Given the description of an element on the screen output the (x, y) to click on. 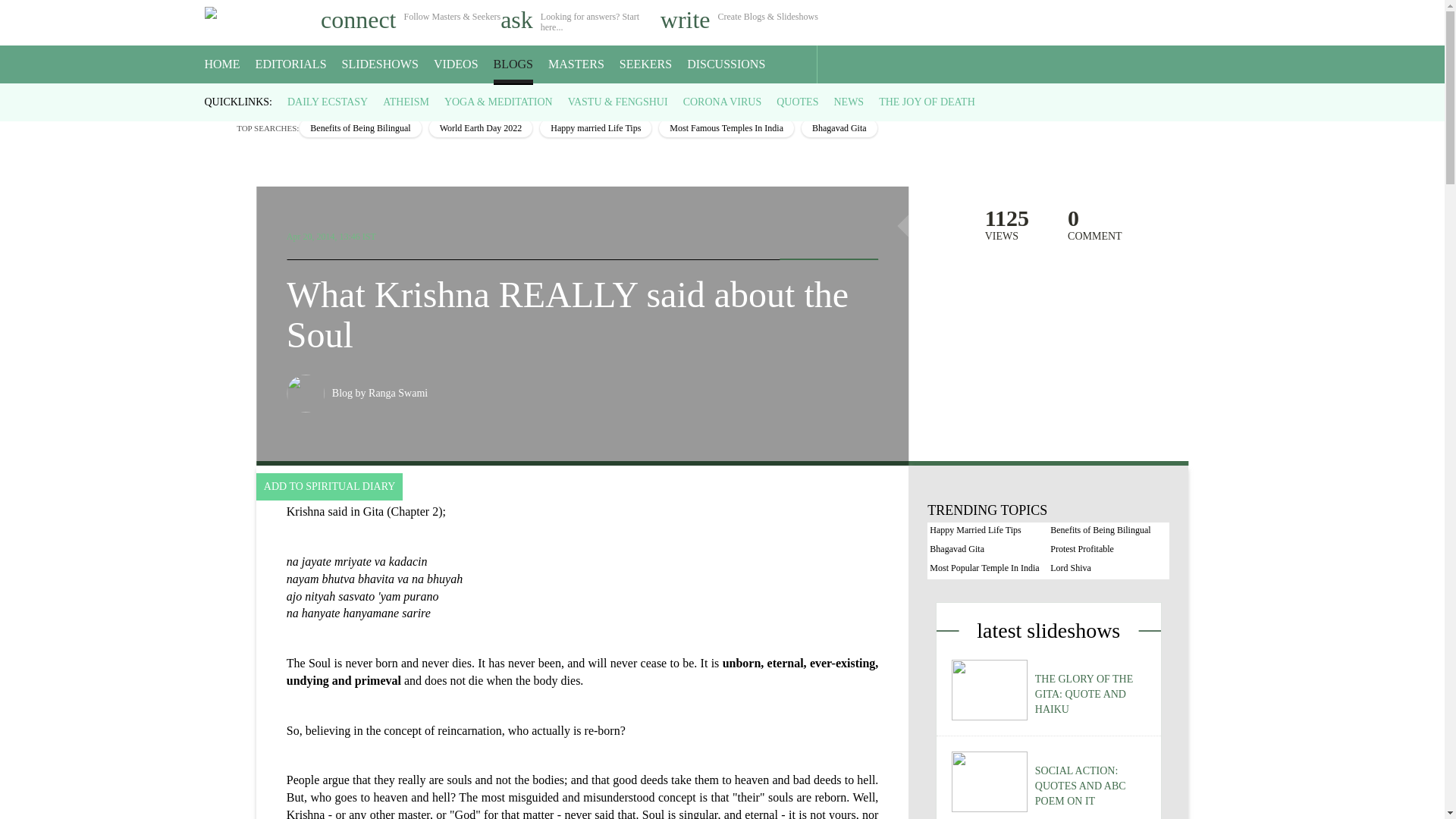
Speaking Tree (216, 96)
NEWS (847, 101)
ATHEISM (405, 101)
Share on Twitter (828, 231)
QUOTES (797, 101)
BLOGS (512, 64)
Share on LinkedIn (860, 231)
DISCUSSIONS (726, 64)
Blogs (251, 96)
VIDEOS (456, 64)
MASTERS (576, 64)
Share on Facebook (796, 231)
CORONA VIRUS (721, 101)
SLIDESHOWS (380, 64)
DAILY ECSTASY (327, 101)
